Given the description of an element on the screen output the (x, y) to click on. 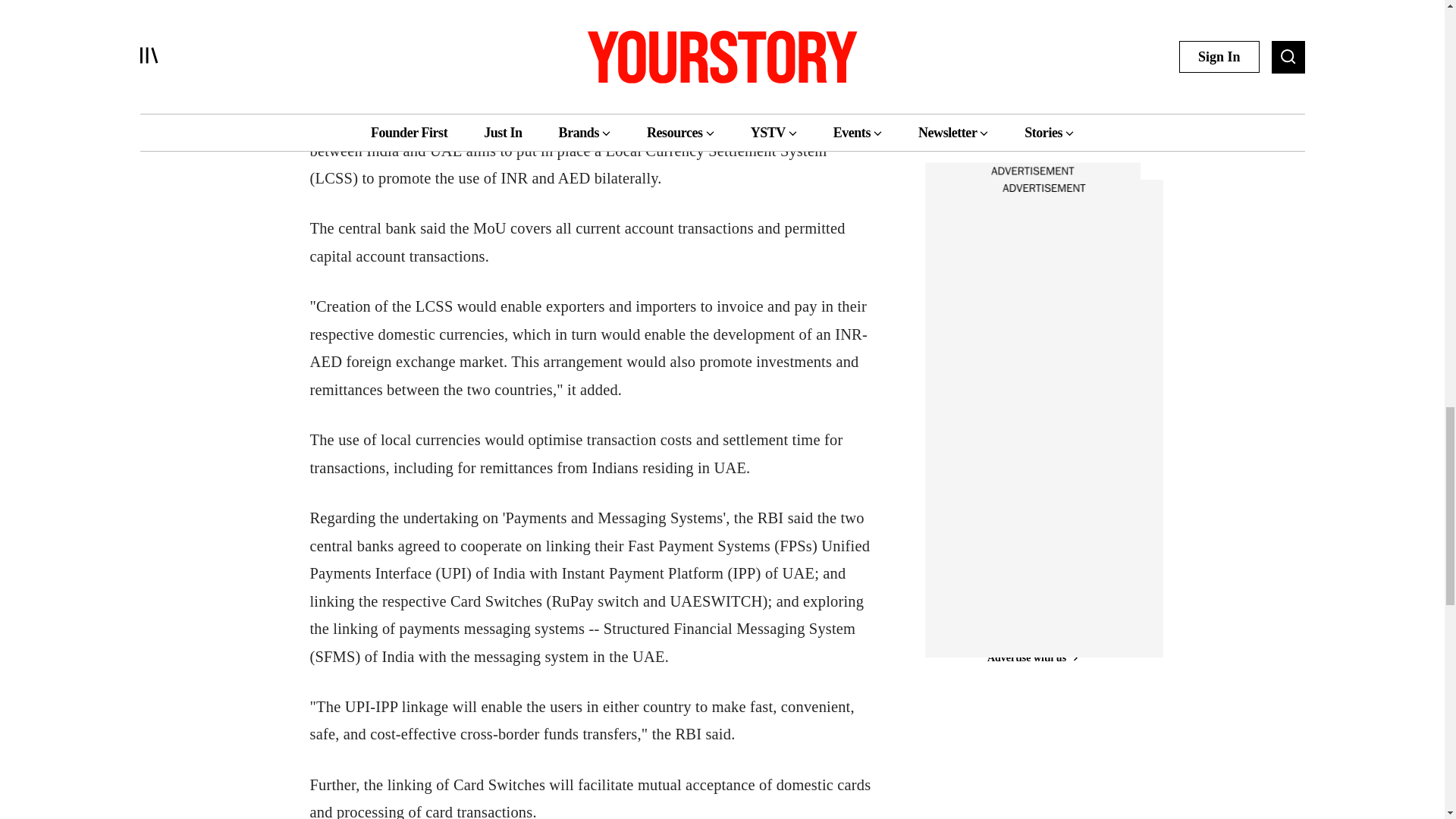
Advertise with us (1032, 657)
AI GEN (973, 78)
Advertise with us (1032, 170)
